Given the description of an element on the screen output the (x, y) to click on. 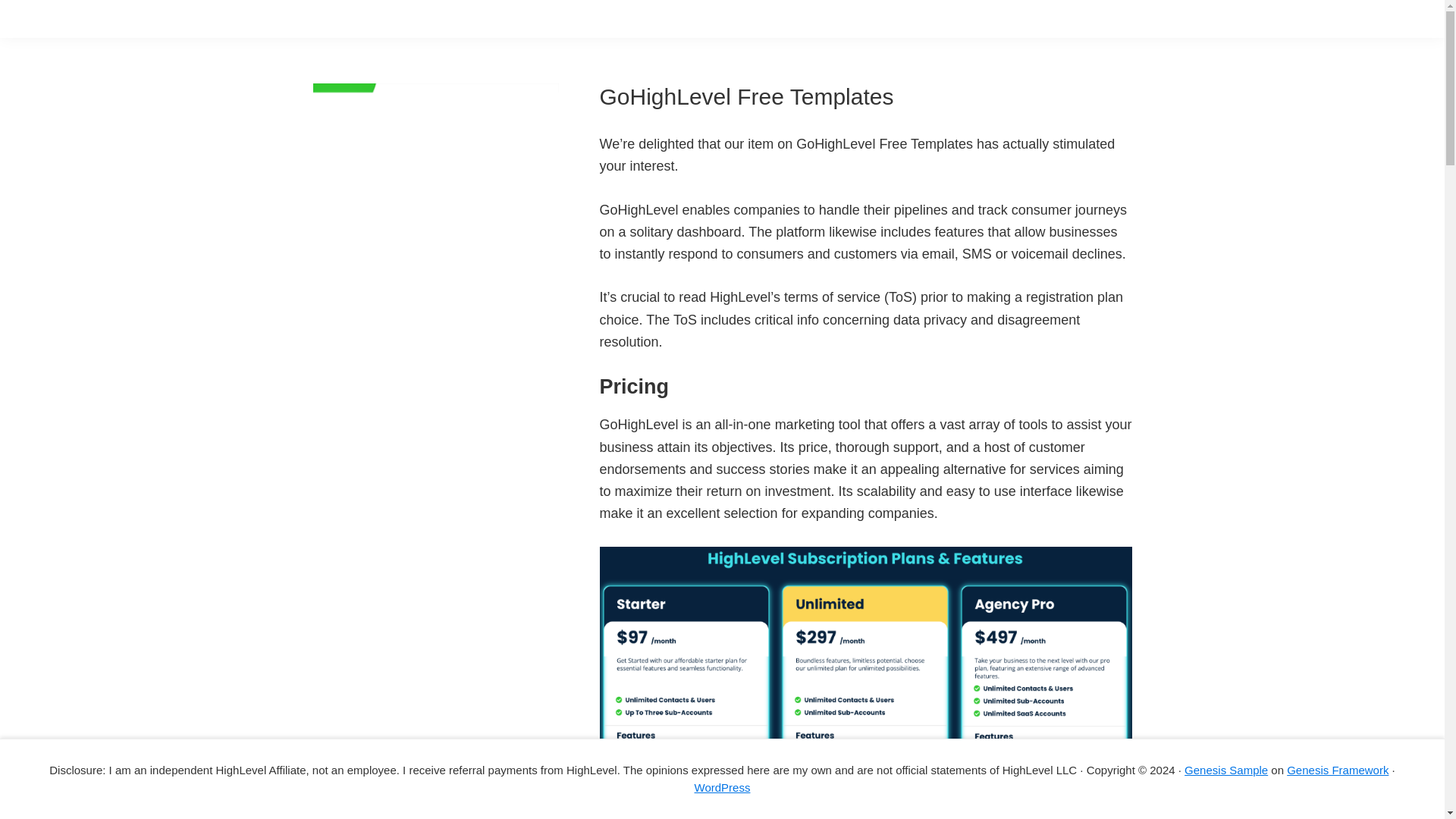
WordPress (722, 787)
Genesis Sample (1226, 769)
Genesis Framework (1338, 769)
